Given the description of an element on the screen output the (x, y) to click on. 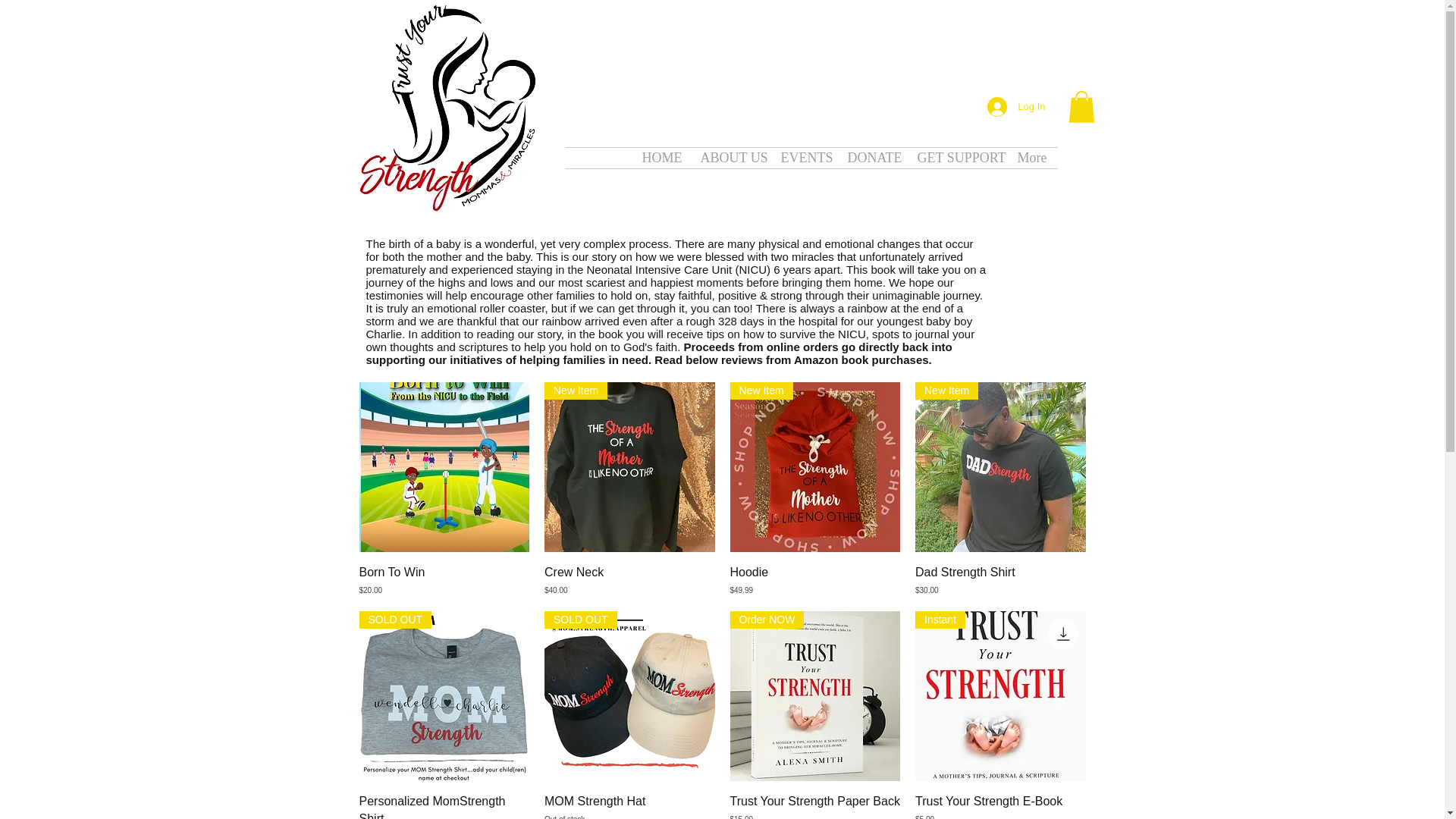
EVENTS (801, 158)
SOLD OUT (629, 696)
Instant (629, 806)
New Item (1000, 696)
DONATE (814, 467)
New Item (870, 158)
SOLD OUT (629, 467)
HOME (444, 696)
Order NOW (444, 806)
GET SUPPORT (659, 158)
Log In (814, 696)
ABOUT US (955, 158)
New Item (1015, 106)
